Given the description of an element on the screen output the (x, y) to click on. 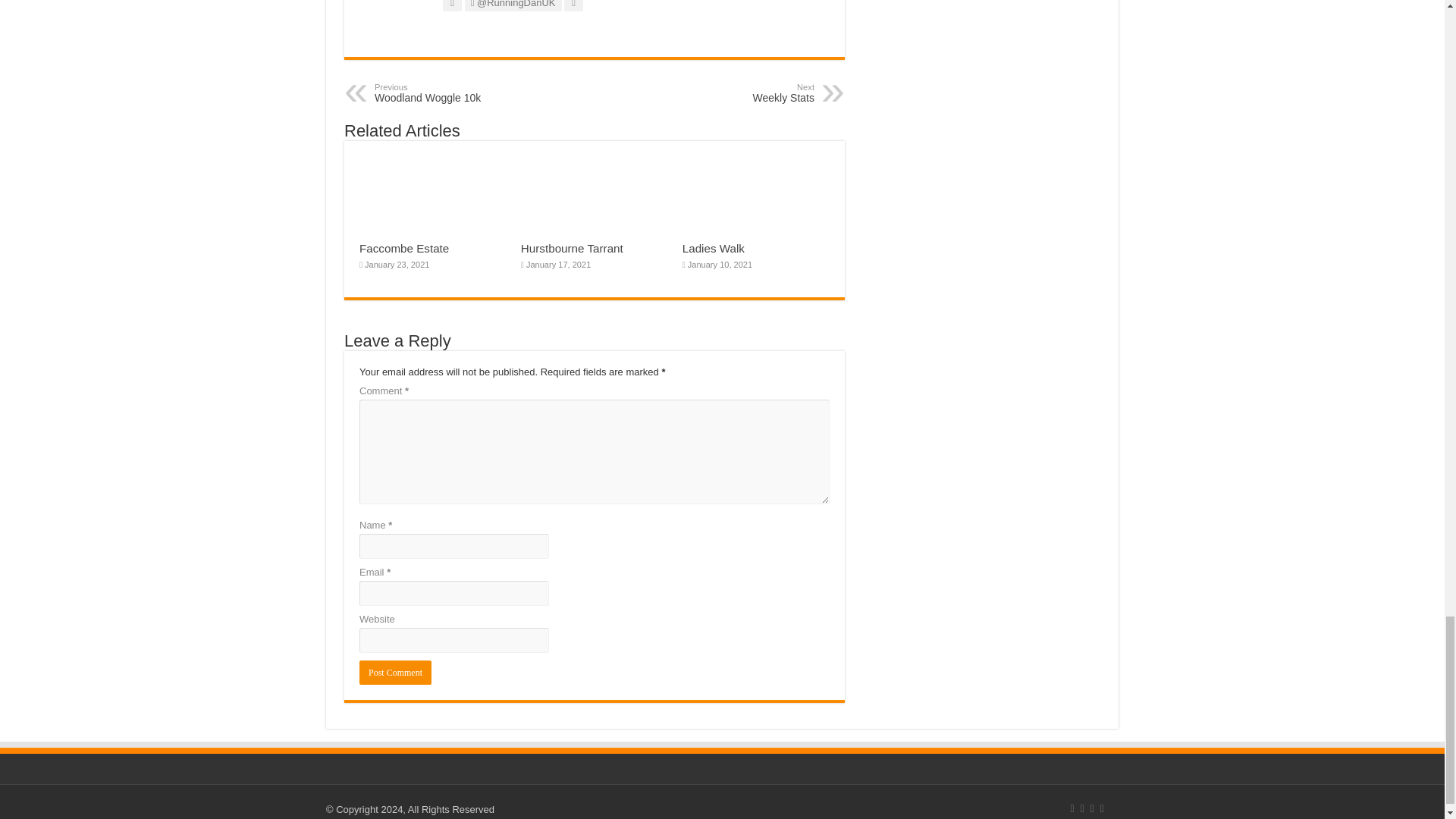
Post Comment (451, 93)
